Given the description of an element on the screen output the (x, y) to click on. 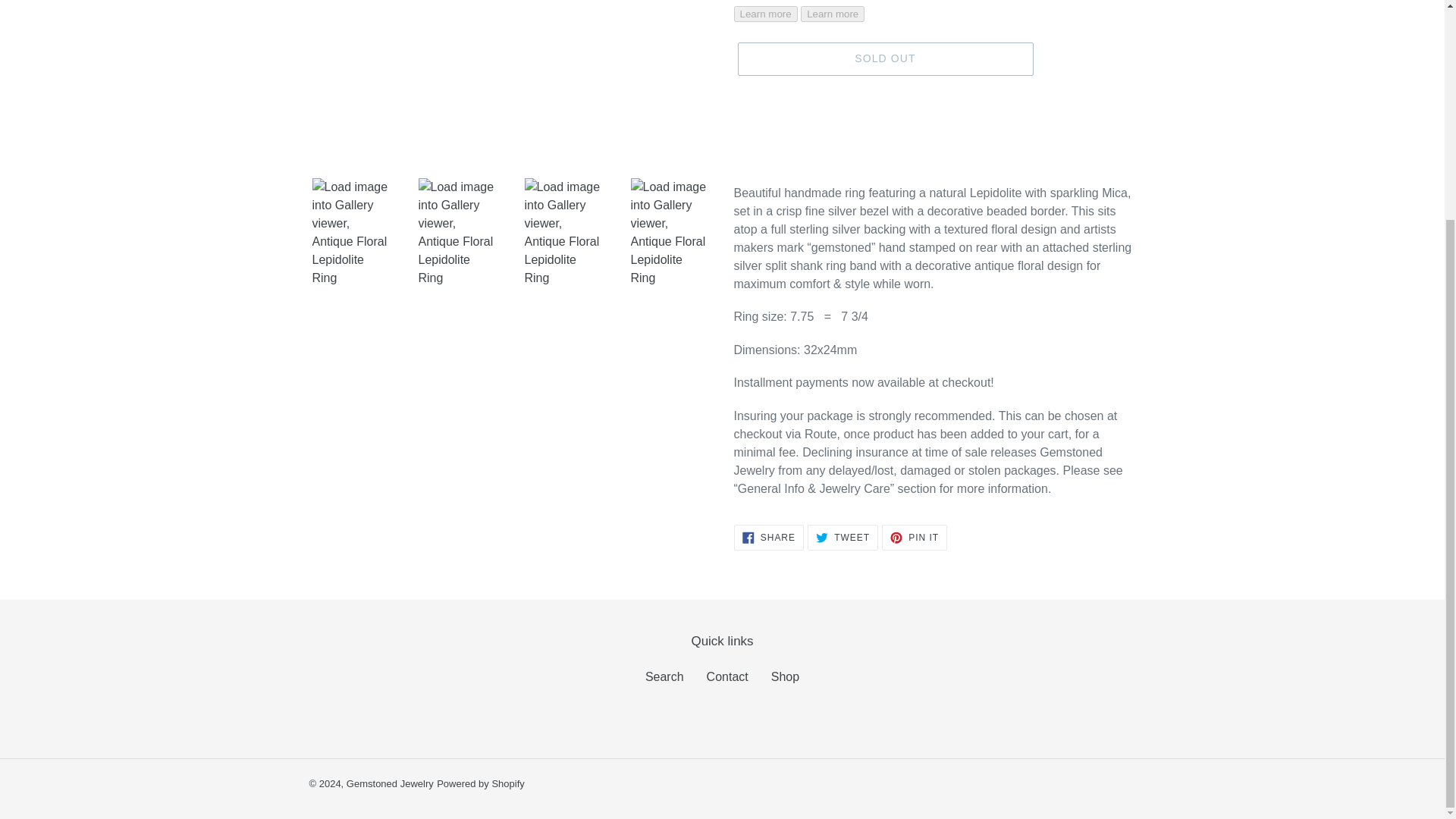
Powered by Shopify (842, 537)
SOLD OUT (480, 783)
Gemstoned Jewelry (884, 59)
Contact (389, 783)
Search (768, 537)
Shop (727, 676)
